Given the description of an element on the screen output the (x, y) to click on. 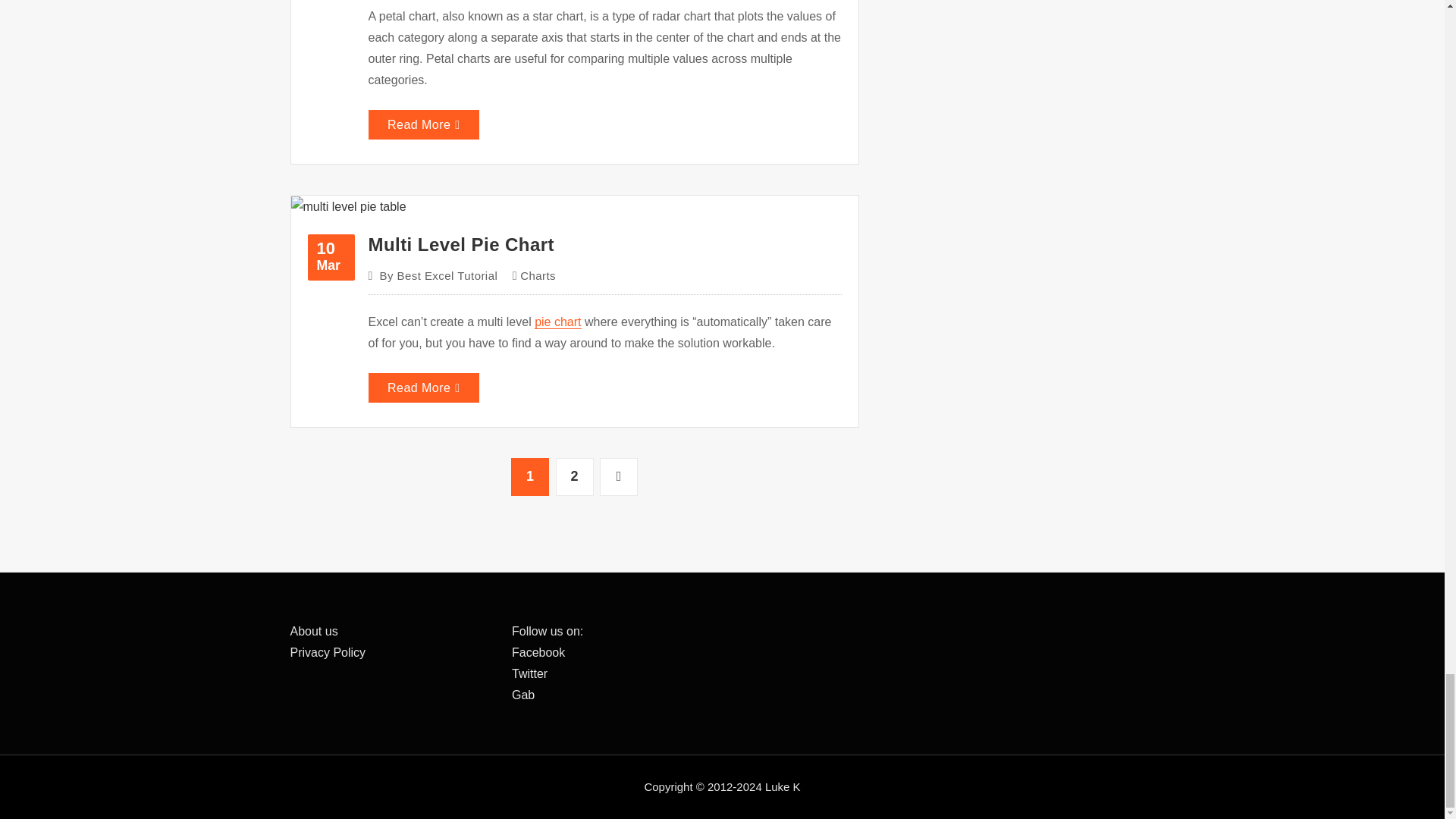
Facebook (538, 652)
Twitter (529, 673)
Gab (523, 694)
